Given the description of an element on the screen output the (x, y) to click on. 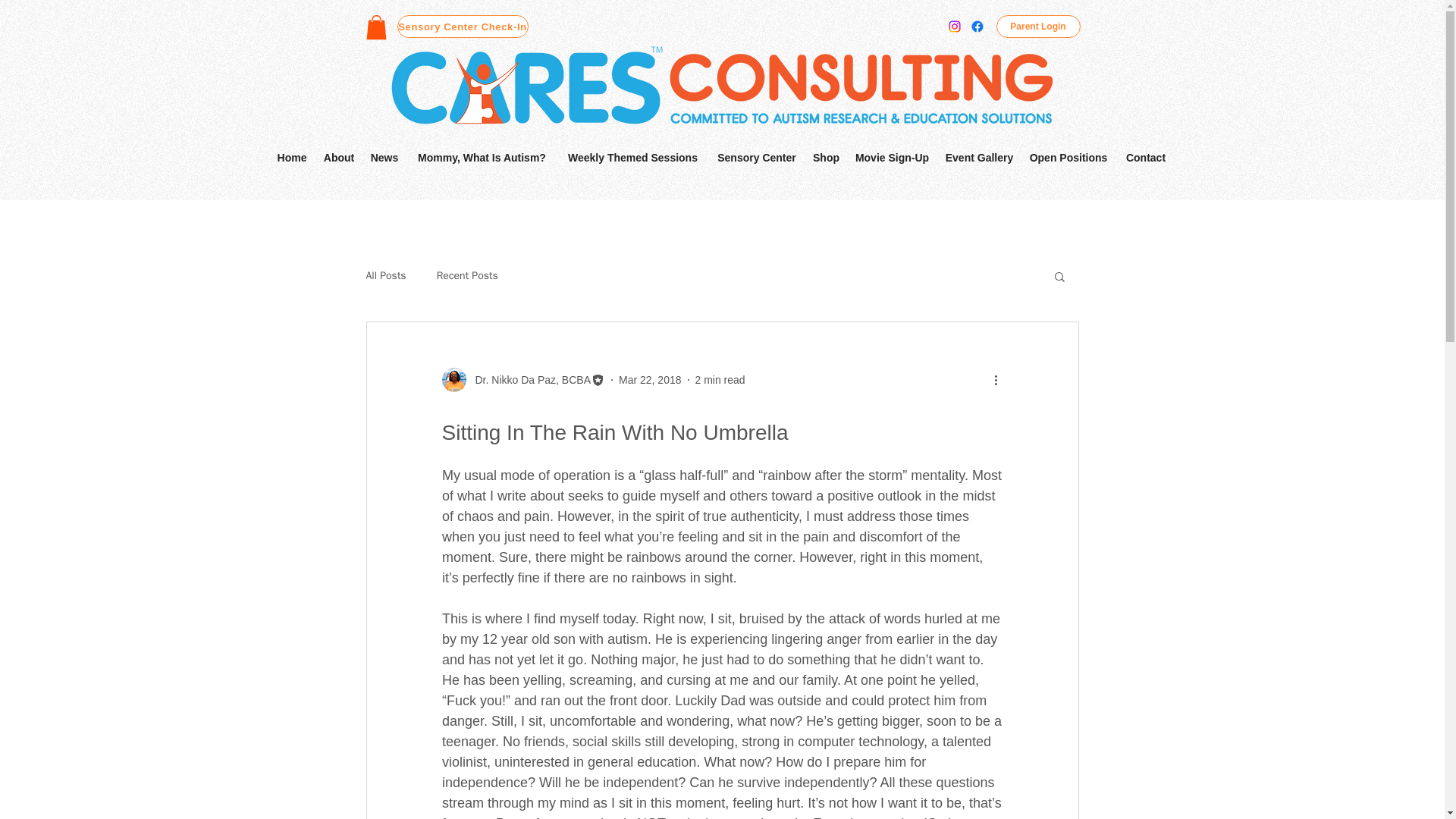
Home (291, 157)
Open Positions (1068, 157)
Dr. Nikko Da Paz, BCBA (523, 379)
Sensory Center (756, 157)
Event Gallery (979, 157)
News (384, 157)
Shop (826, 157)
All Posts (385, 275)
2 min read (719, 379)
Movie Sign-Up (892, 157)
